Given the description of an element on the screen output the (x, y) to click on. 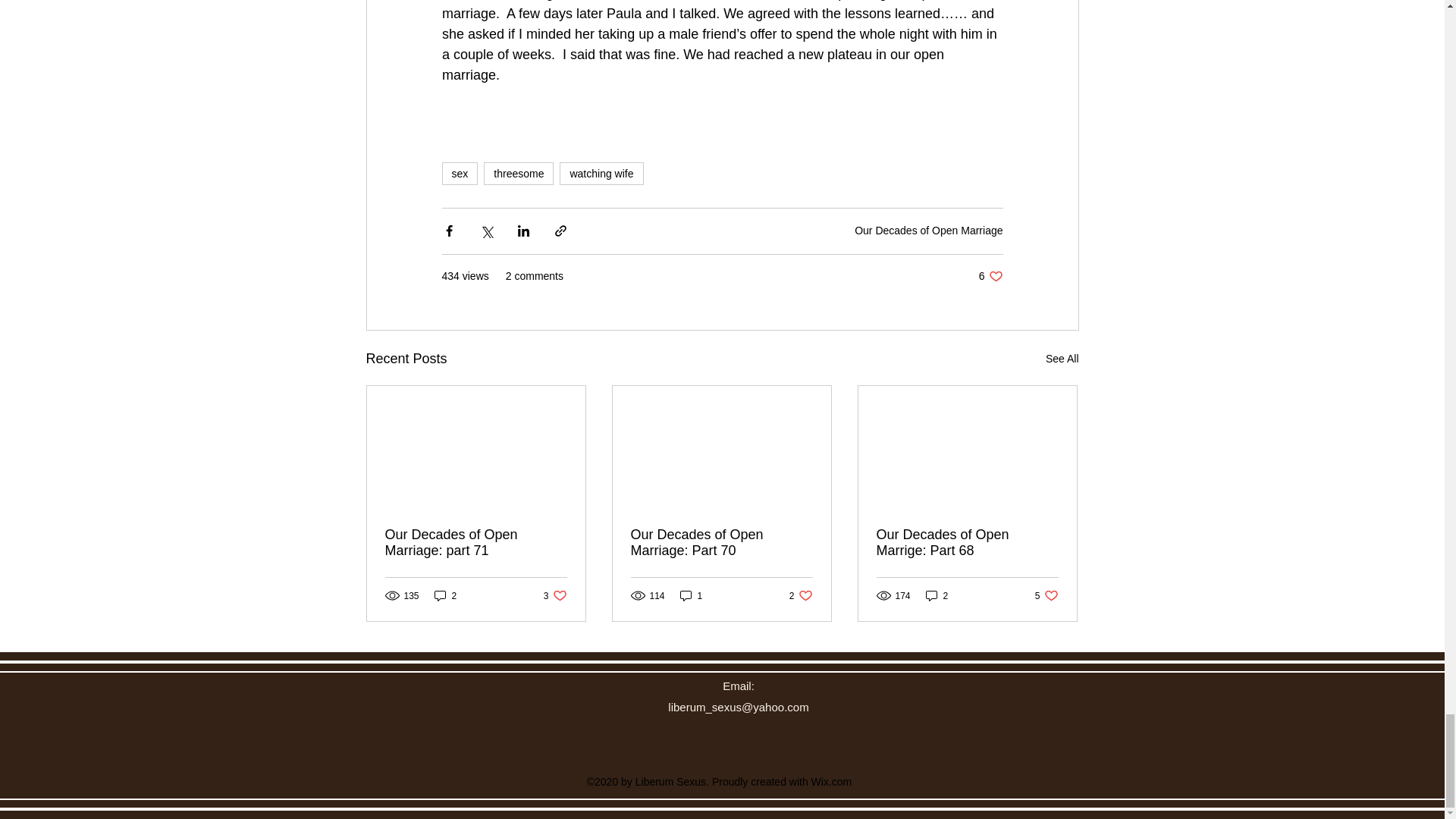
Our Decades of Open Marriage: part 71 (990, 276)
threesome (476, 542)
Our Decades of Open Marriage: Part 70 (518, 173)
sex (721, 542)
See All (459, 173)
2 (1061, 359)
watching wife (445, 595)
Our Decades of Open Marriage (601, 173)
